Given the description of an element on the screen output the (x, y) to click on. 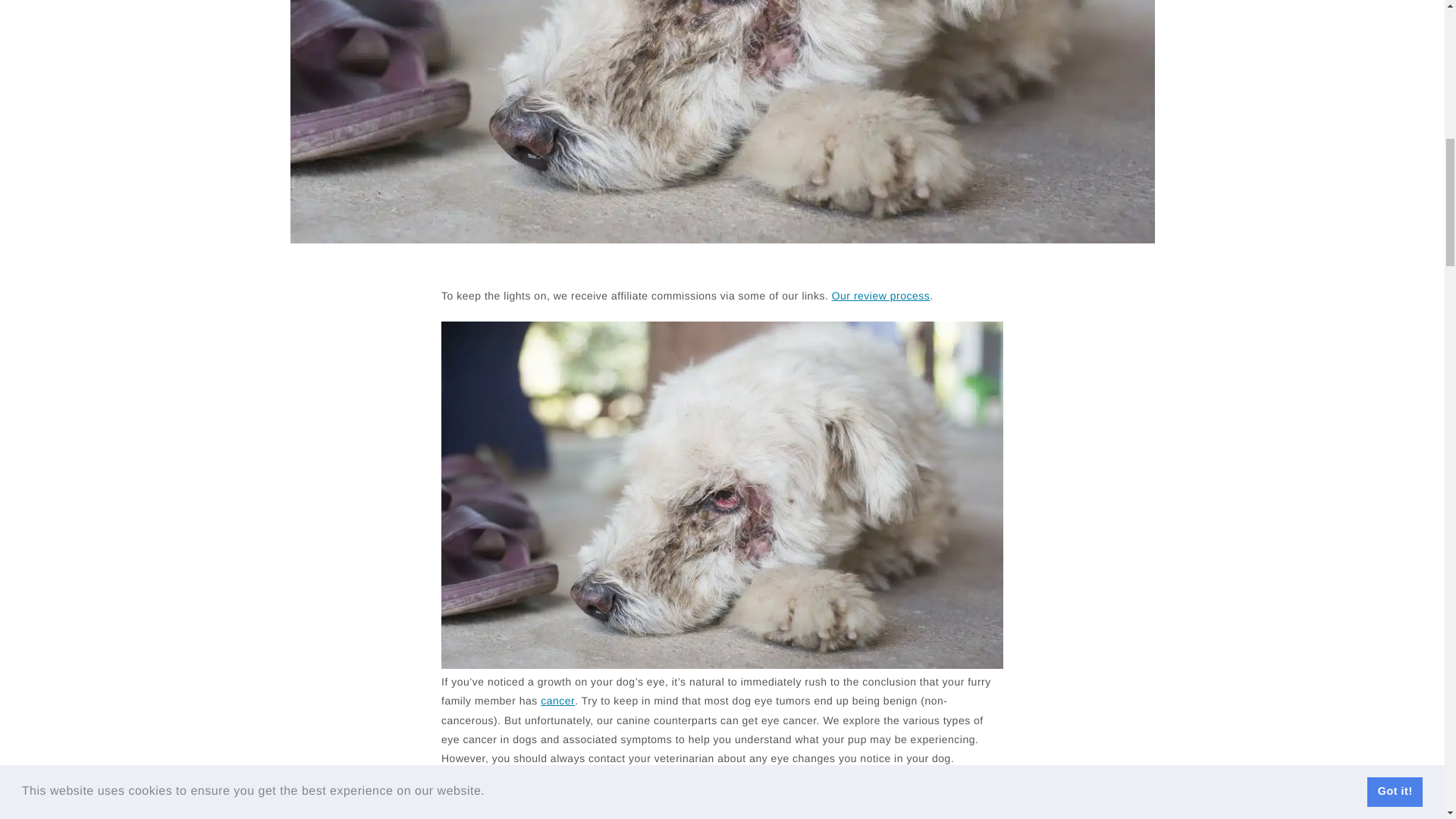
Our review process (880, 295)
cancer (557, 700)
